Given the description of an element on the screen output the (x, y) to click on. 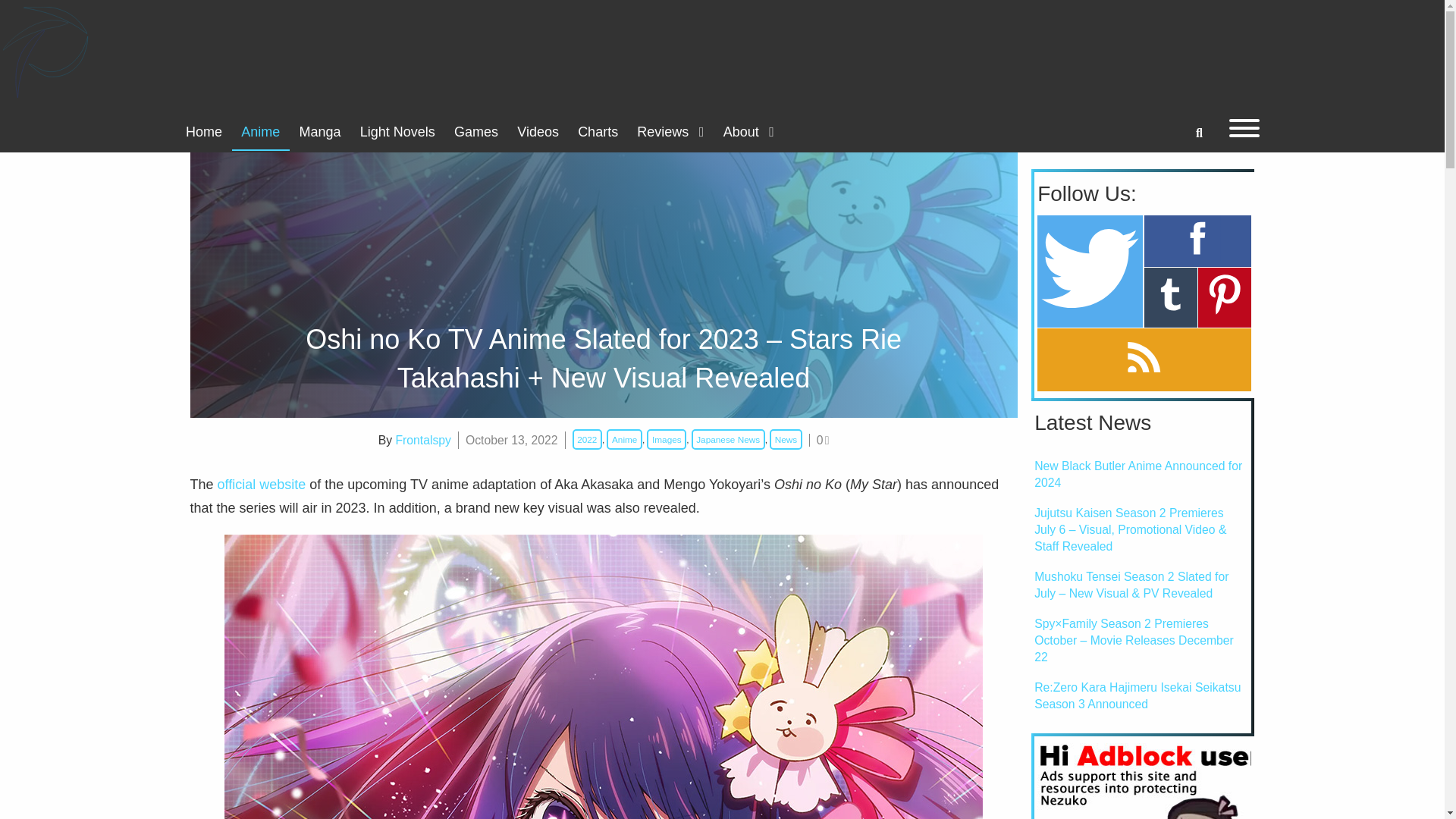
Anime (260, 131)
About (748, 131)
Frontalspy (422, 440)
2022 (587, 439)
Subscribe To Our RSS Feed! (1143, 358)
Otaku Tale (45, 52)
Games (475, 131)
Reviews (670, 131)
Charts (598, 131)
Anime (624, 439)
Follow Us on Pinterest! (1224, 297)
Home (203, 131)
Videos (538, 131)
Manga (319, 131)
Light Novels (397, 131)
